Given the description of an element on the screen output the (x, y) to click on. 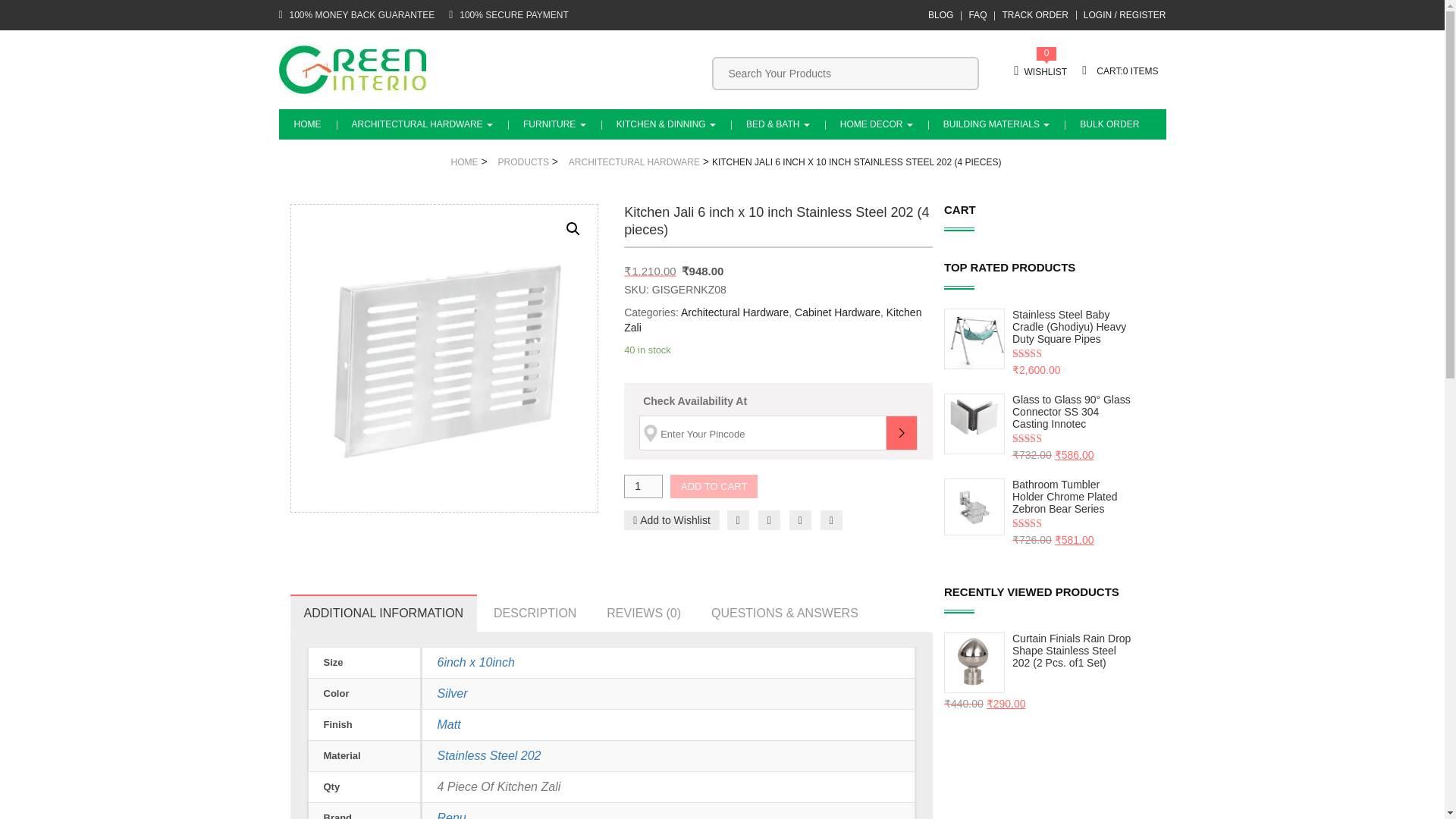
HOME (307, 123)
FAQ (977, 14)
0 (1120, 70)
Architectural Hardware (422, 123)
WISHLIST (1040, 71)
FAQ (977, 14)
Blog (940, 14)
BLOG (940, 14)
TRACK ORDER (1034, 14)
1 (643, 486)
View your shopping cart (1120, 70)
ARCHITECTURAL HARDWARE (422, 123)
Track Order (1034, 14)
Home (307, 123)
